Given the description of an element on the screen output the (x, y) to click on. 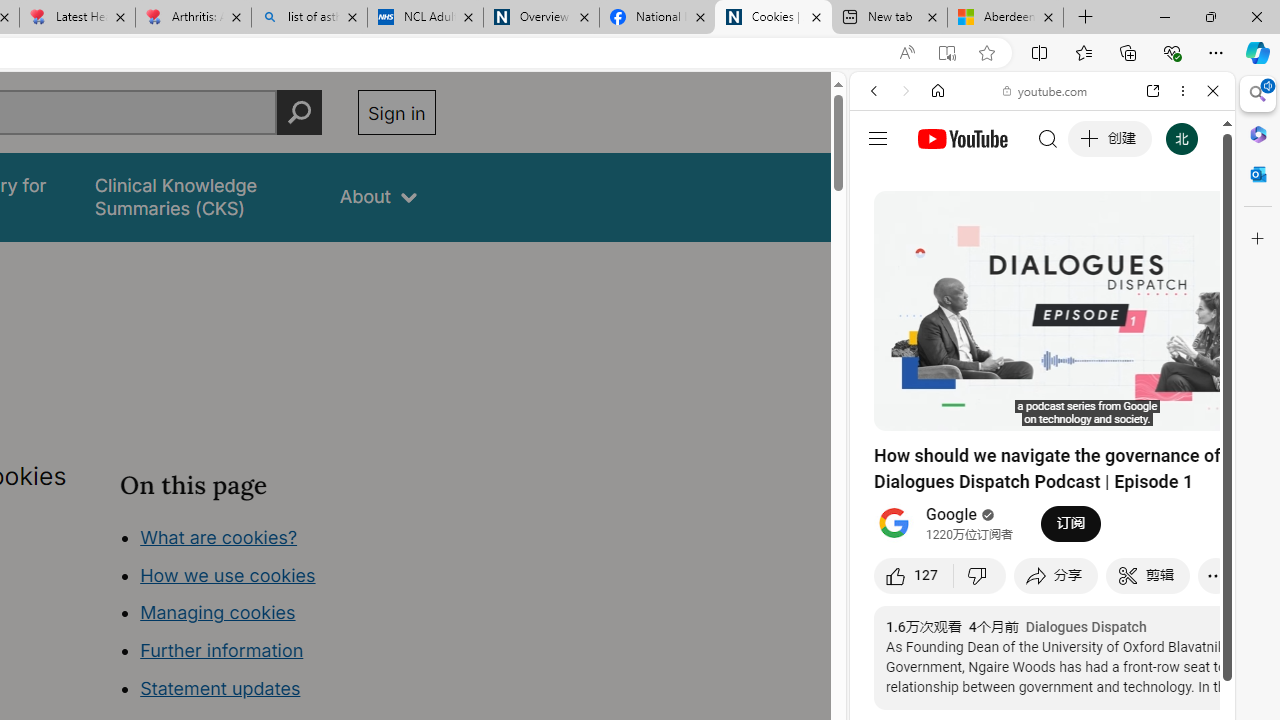
SEARCH TOOLS (1093, 228)
Dialogues Dispatch (1085, 627)
Search videos from youtube.com (1005, 657)
